Given the description of an element on the screen output the (x, y) to click on. 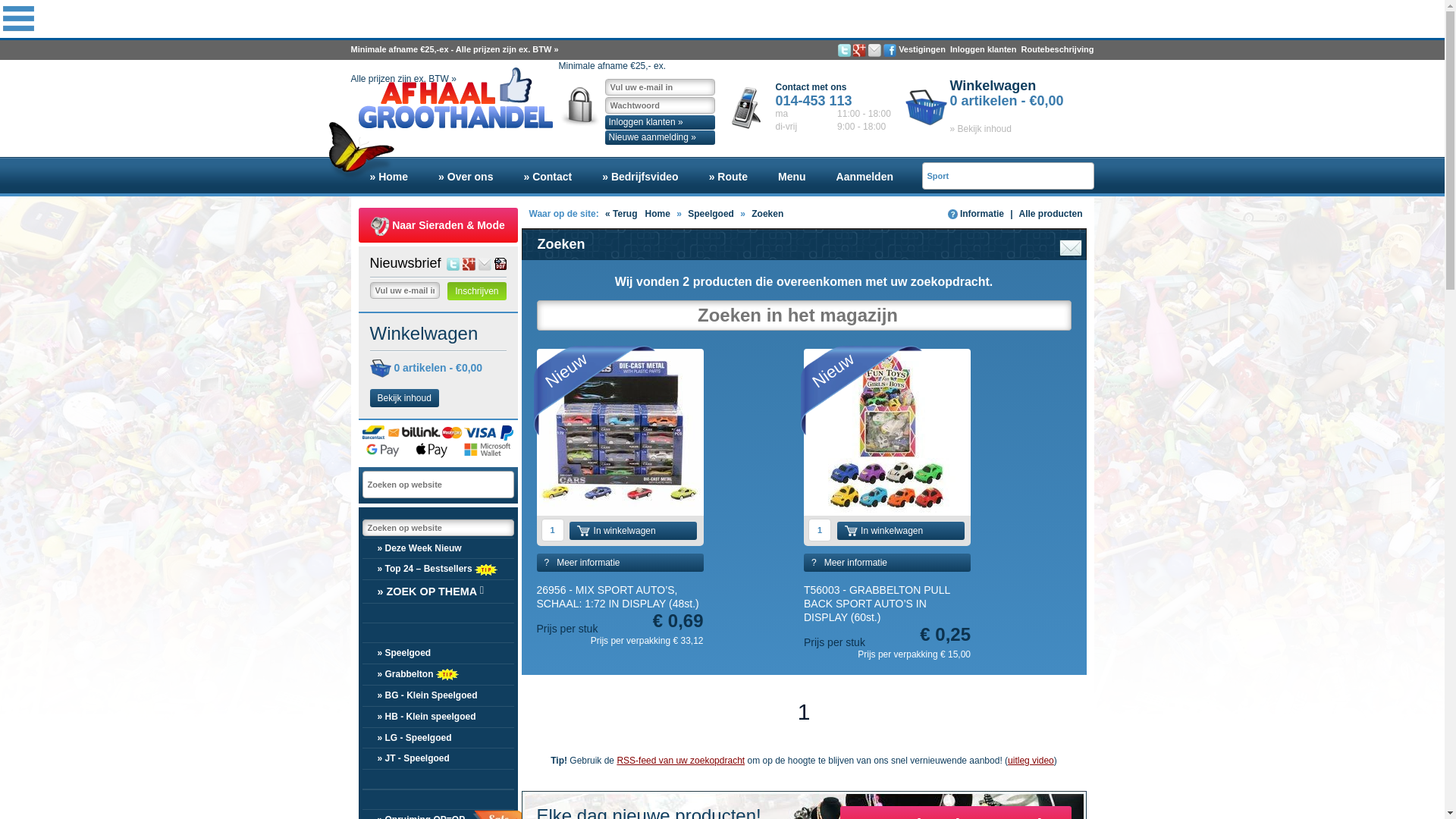
Inloggen klanten Element type: text (983, 48)
1 Element type: text (803, 711)
In winkelwagen Element type: text (900, 530)
Inschrijven Element type: text (476, 291)
Informatie Element type: text (975, 213)
RSS-feed van zoekopdracht Element type: hover (1071, 245)
In winkelwagen Element type: text (632, 530)
uitleg video Element type: text (1030, 760)
Zoeken Element type: text (767, 213)
Home Element type: text (657, 213)
Menu Element type: text (791, 176)
Alle producten Element type: text (1050, 213)
Speelgoed Element type: text (710, 213)
Aanmelden Element type: text (864, 176)
Vestigingen Element type: text (921, 48)
Kassa Element type: text (1016, 176)
Routebeschrijving Element type: text (1057, 48)
Nieuw Element type: text (886, 431)
RSS-feed van uw zoekopdracht Element type: text (680, 760)
Bekijk inhoud Element type: text (404, 398)
?   Meer informatie Element type: text (619, 562)
Naar Sieraden & Mode Element type: text (437, 224)
?   Meer informatie Element type: text (886, 562)
Nieuw Element type: text (619, 431)
Helpdesk Element type: text (947, 176)
